Given the description of an element on the screen output the (x, y) to click on. 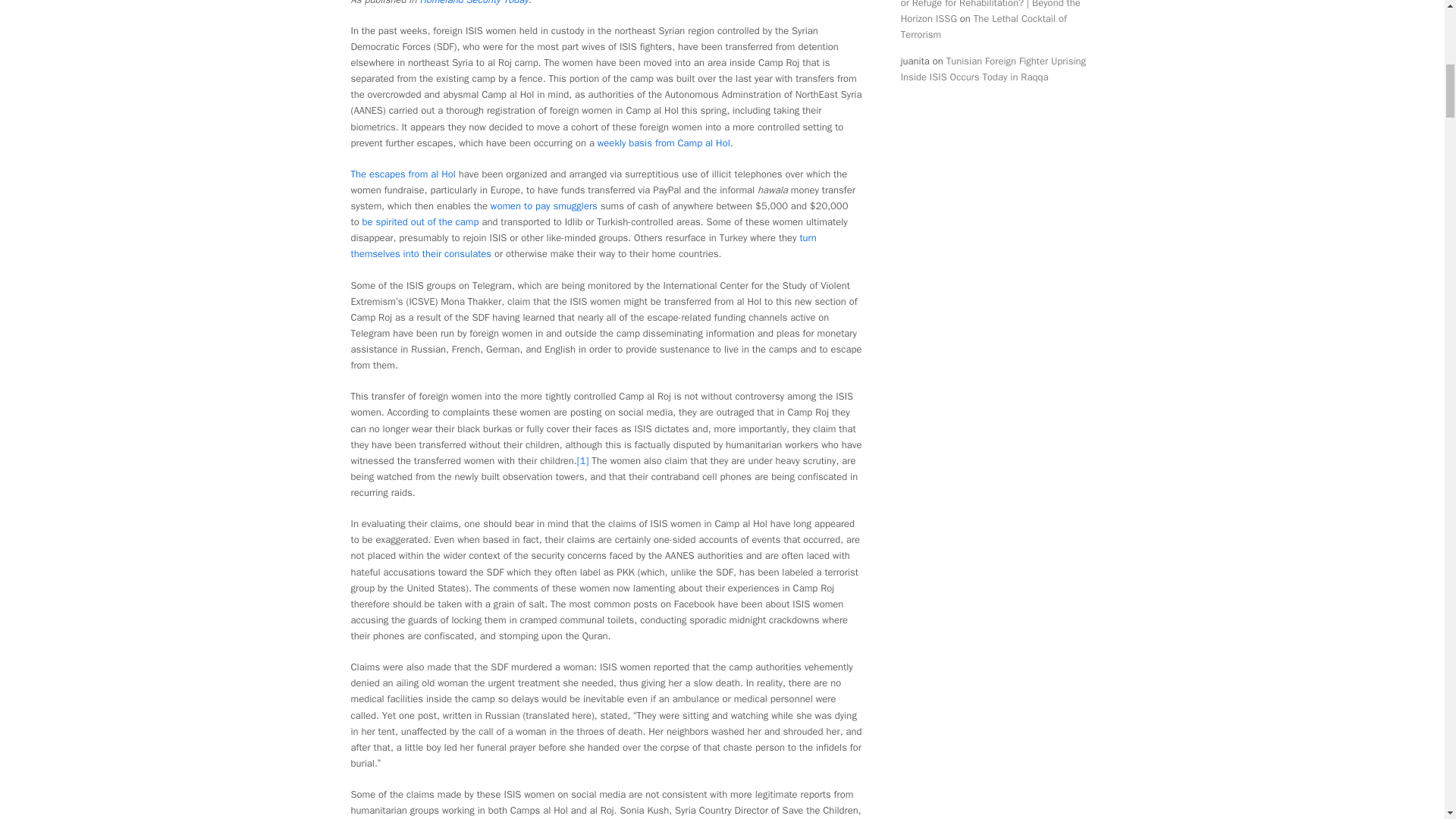
The escapes from al Hol (402, 173)
Homeland Security Today (473, 2)
be spirited out of the camp (420, 221)
women to pay smugglers (543, 205)
weekly basis from Camp al Hol (663, 142)
turn themselves into their consulates (582, 245)
